Given the description of an element on the screen output the (x, y) to click on. 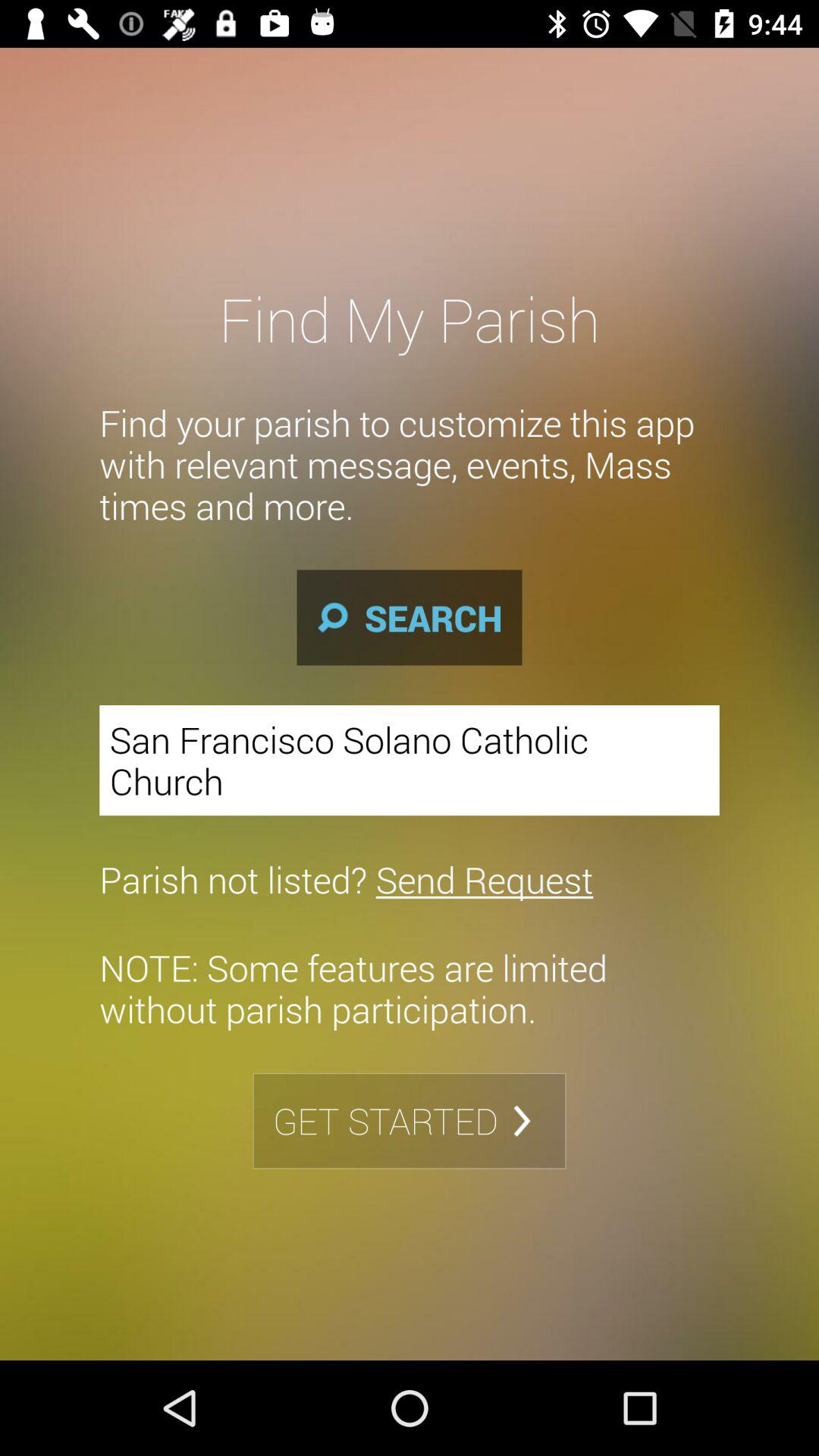
press icon below find your parish item (409, 617)
